Given the description of an element on the screen output the (x, y) to click on. 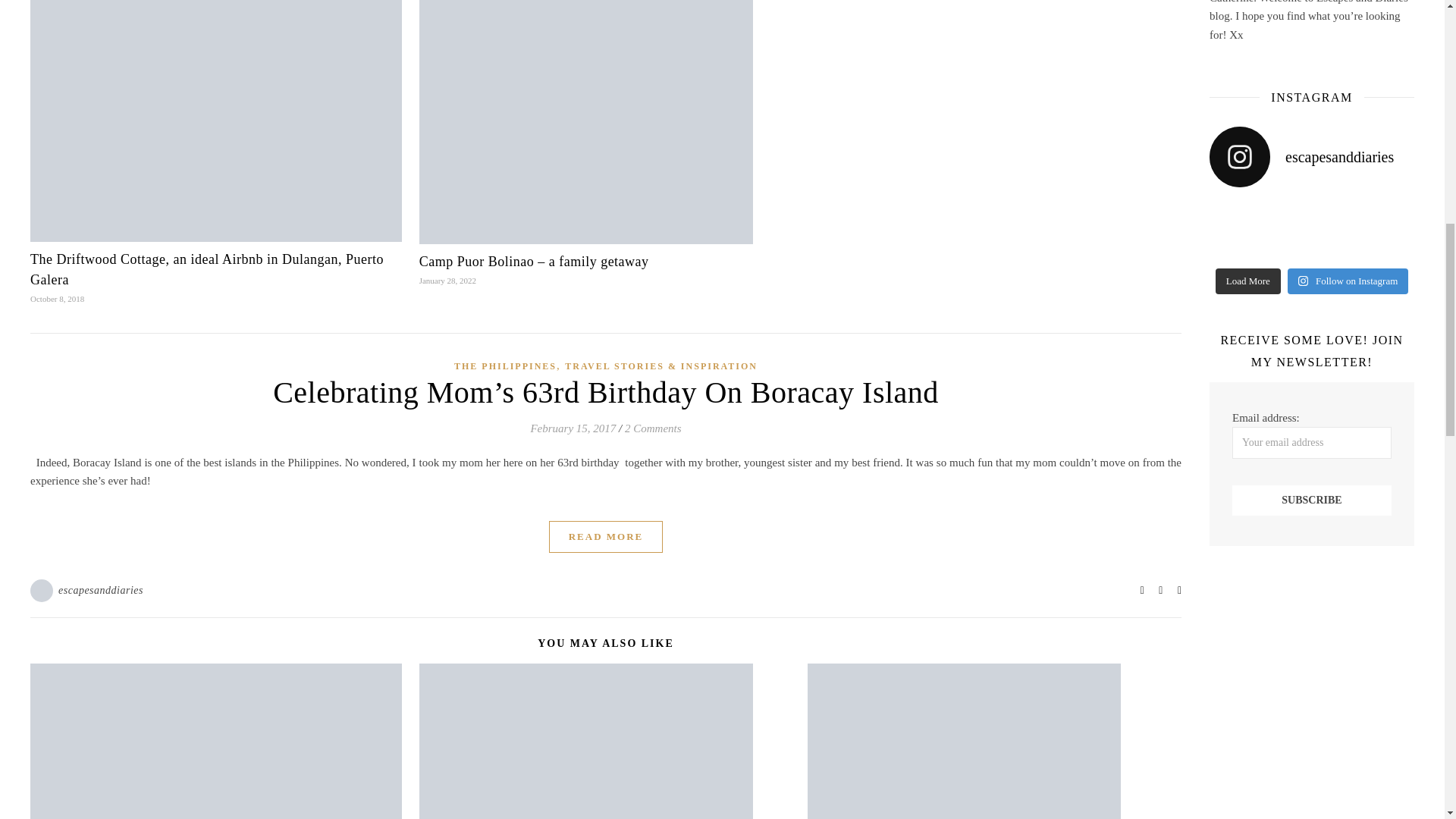
Subscribe (1311, 500)
Posts by escapesanddiaries (100, 590)
